Given the description of an element on the screen output the (x, y) to click on. 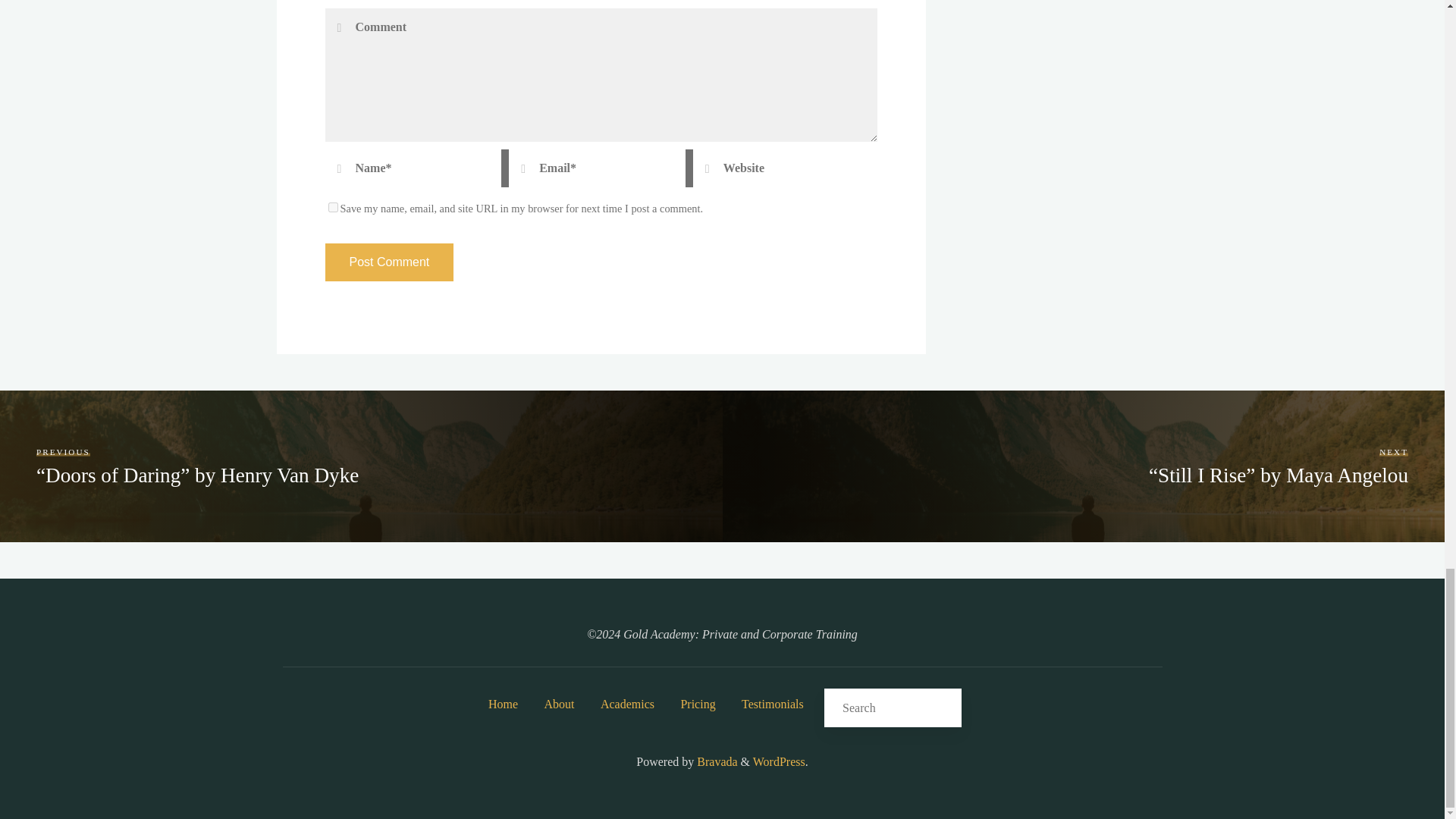
Post Comment (388, 262)
Bravada WordPress Theme by Cryout Creations (715, 761)
yes (332, 207)
Semantic Personal Publishing Platform (778, 761)
